Given the description of an element on the screen output the (x, y) to click on. 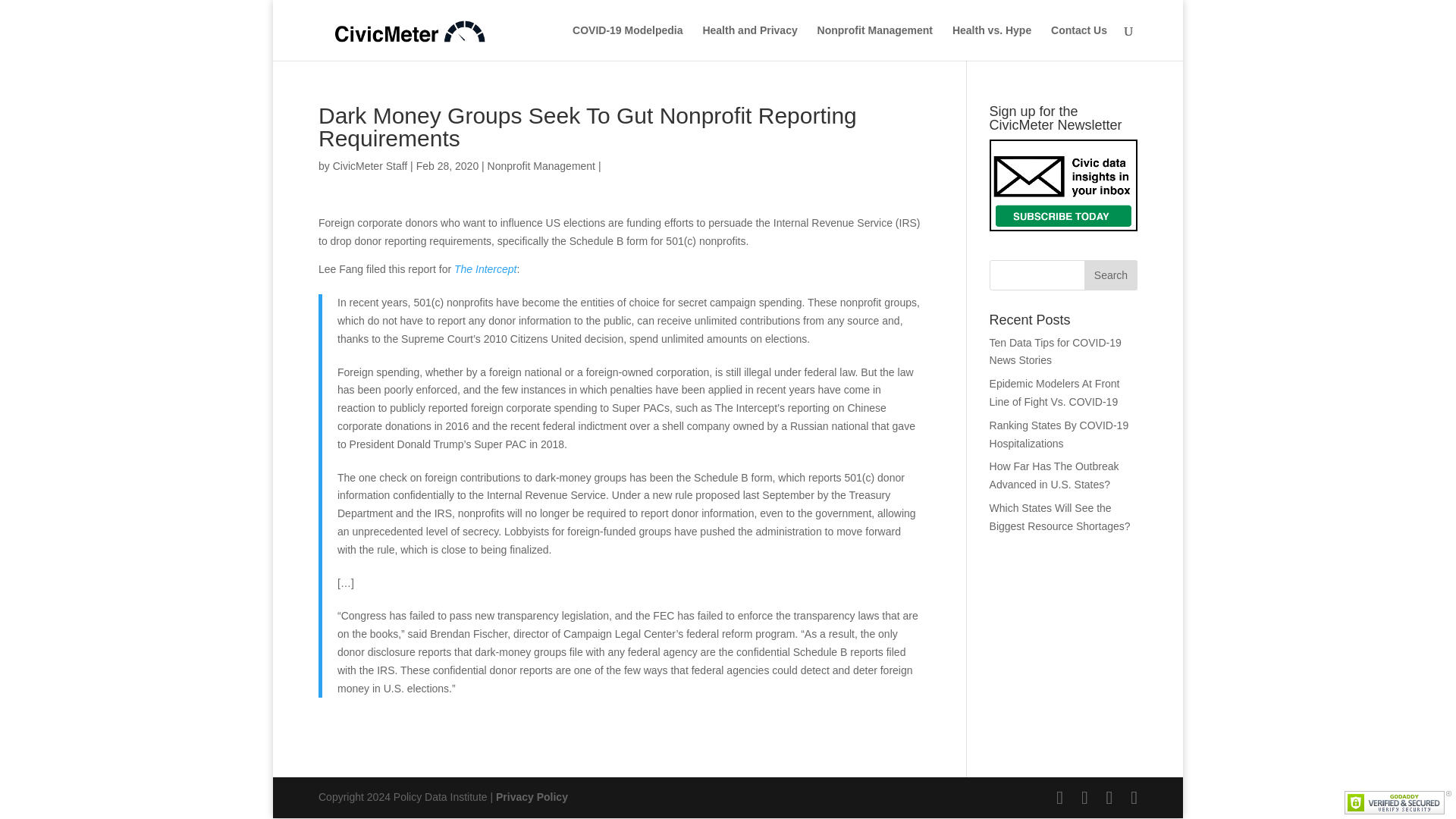
Ranking States By COVID-19 Hospitalizations (1059, 434)
Which States Will See the Biggest Resource Shortages? (1060, 517)
Health vs. Hype (991, 42)
Posts by CivicMeter Staff (370, 165)
COVID-19 Modelpedia (627, 42)
Search (1110, 275)
Nonprofit Management (874, 42)
Ten Data Tips for COVID-19 News Stories (1055, 351)
Search (1110, 275)
Health and Privacy (748, 42)
Contact Us (1078, 42)
Epidemic Modelers At Front Line of Fight Vs. COVID-19 (1054, 392)
Privacy Policy (531, 797)
The Intercept (485, 268)
CivicMeter Staff (370, 165)
